Given the description of an element on the screen output the (x, y) to click on. 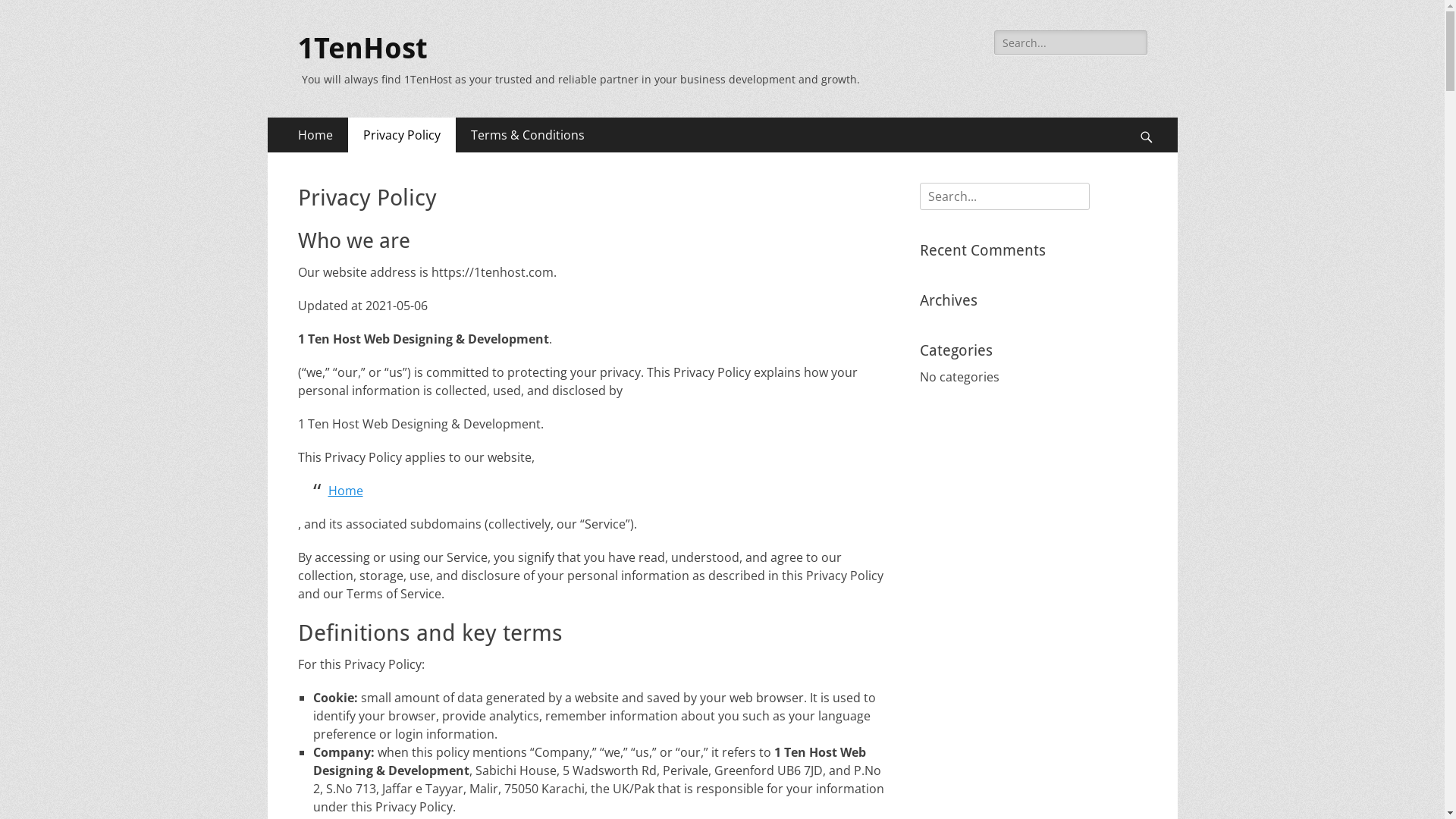
Home Element type: text (314, 134)
Privacy Policy Element type: text (401, 134)
Search for: Element type: hover (1070, 42)
Search Element type: text (1152, 116)
Search for: Element type: hover (1003, 196)
Search Element type: text (34, 13)
1TenHost Element type: text (361, 48)
Terms & Conditions Element type: text (527, 134)
Home Element type: text (344, 490)
